Given the description of an element on the screen output the (x, y) to click on. 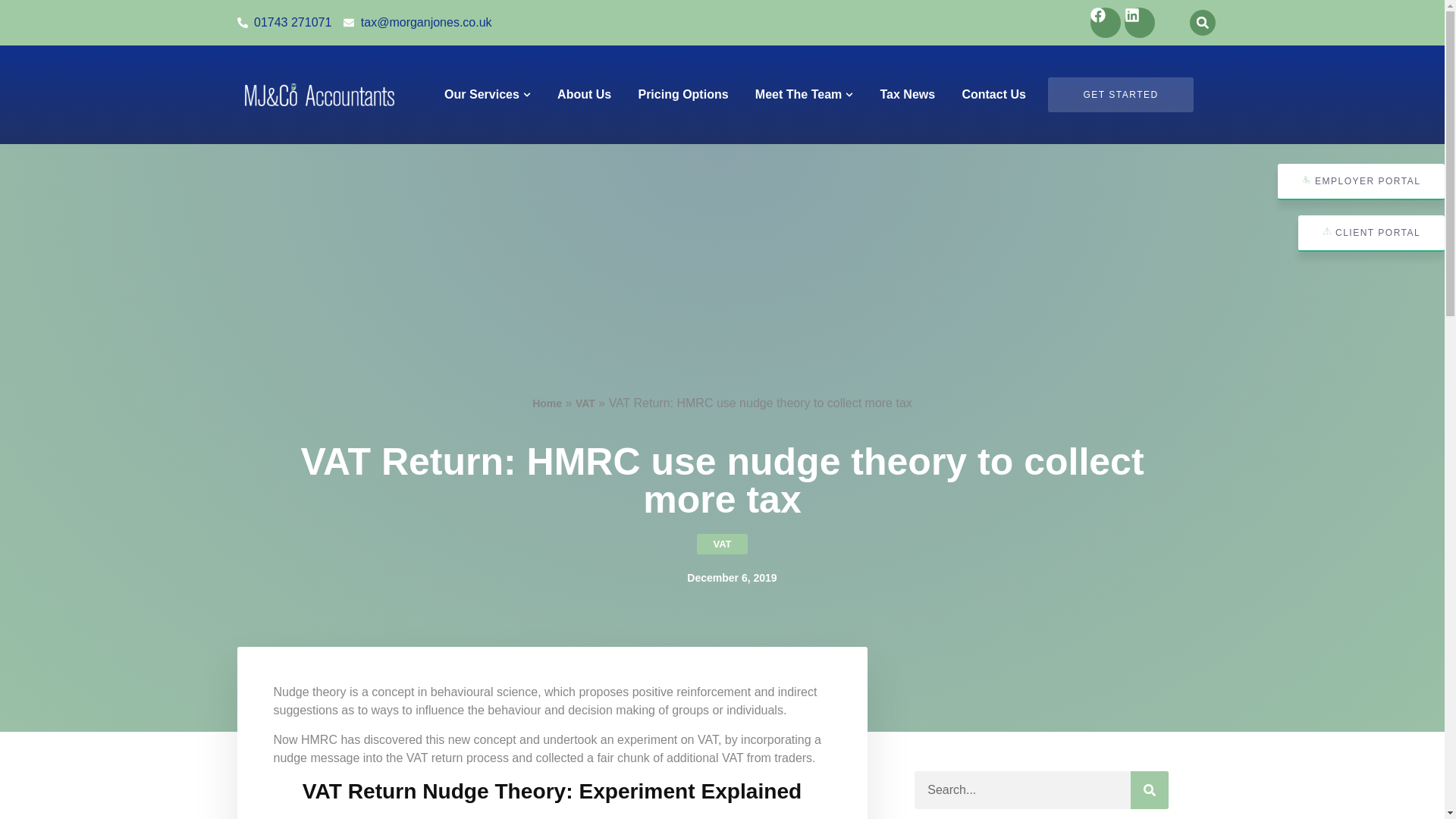
Tax News (908, 94)
Meet The Team (798, 94)
Contact Us (992, 94)
Our Services (481, 94)
01743 271071 (283, 22)
About Us (584, 94)
Pricing Options (682, 94)
